Given the description of an element on the screen output the (x, y) to click on. 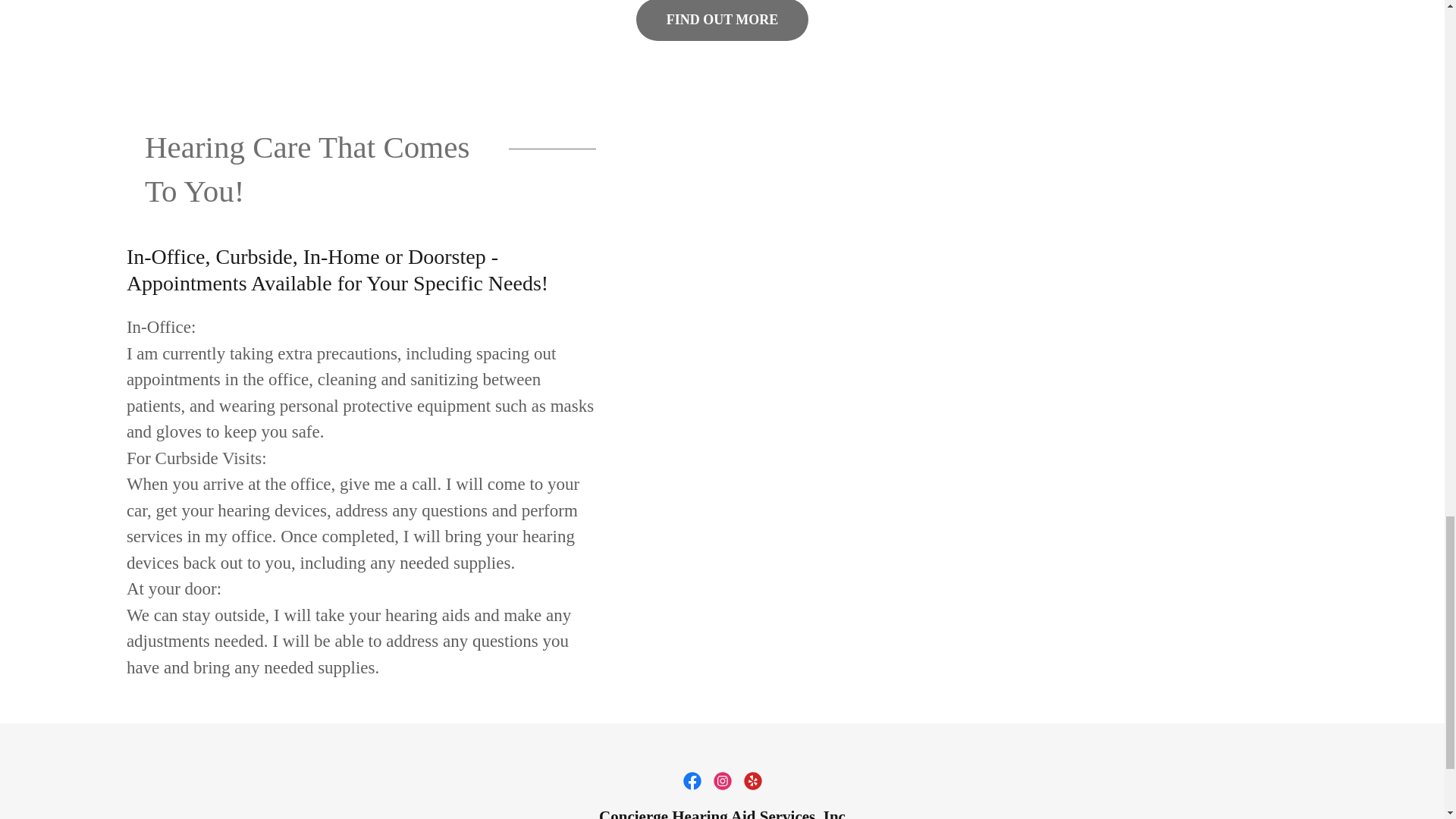
FIND OUT MORE (722, 20)
